Given the description of an element on the screen output the (x, y) to click on. 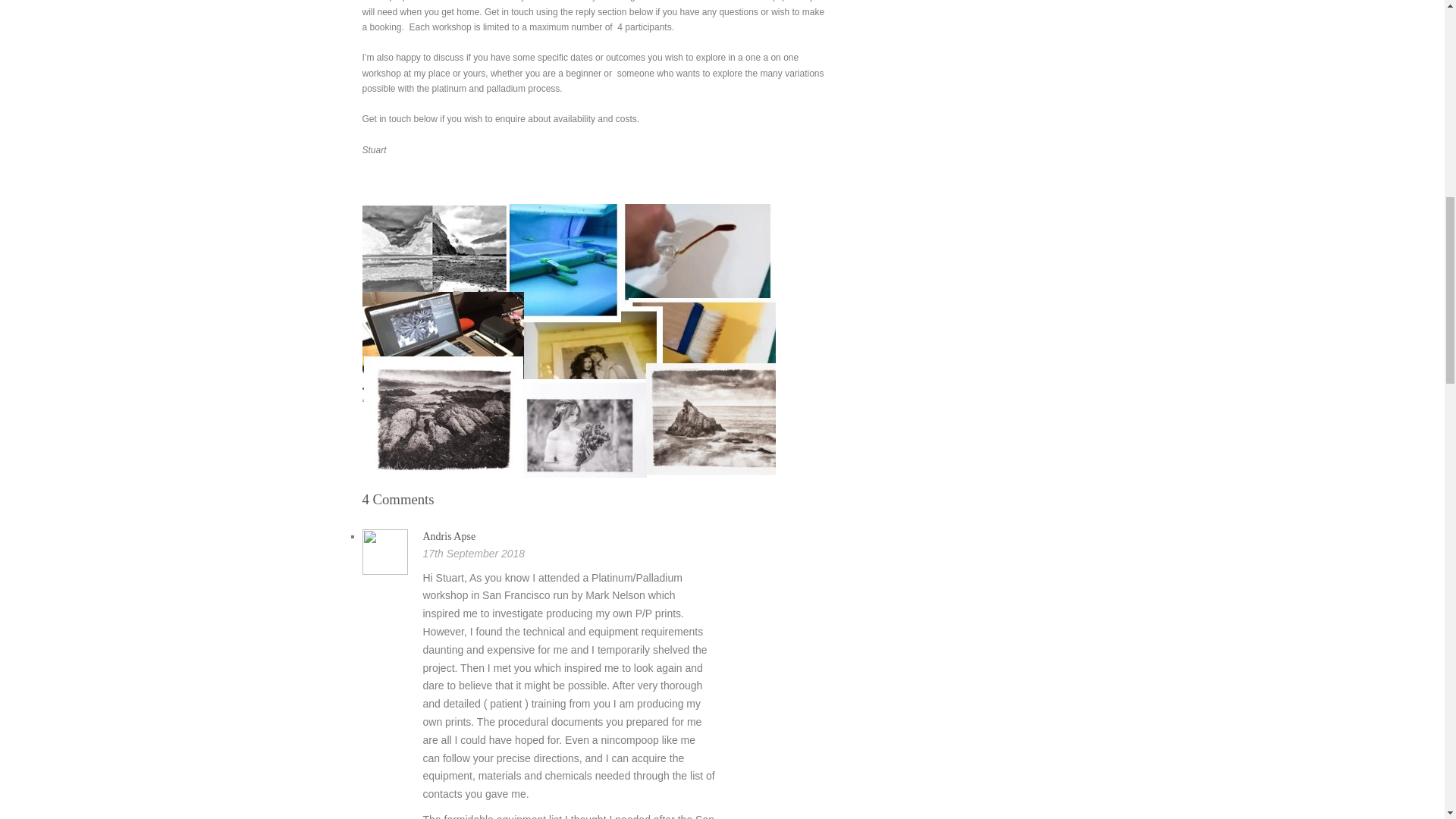
Andris Apse (449, 536)
